Given the description of an element on the screen output the (x, y) to click on. 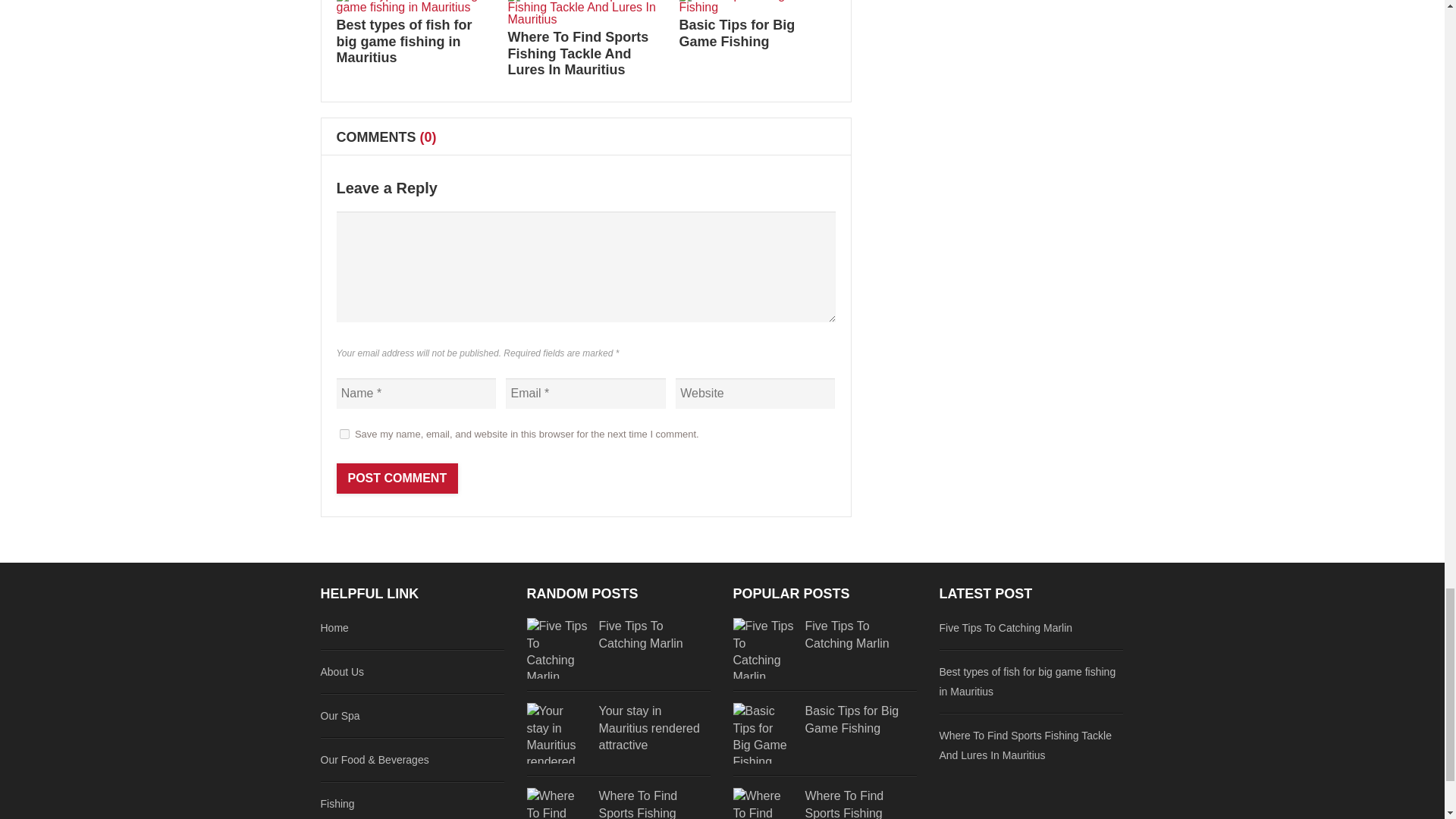
Where To Find Sports Fishing Tackle And Lures In Mauritius (578, 52)
Post Comment (397, 478)
Post Comment (397, 478)
yes (344, 433)
Best types of fish for big game fishing in Mauritius (403, 41)
Basic Tips for Big Game Fishing (736, 33)
